Given the description of an element on the screen output the (x, y) to click on. 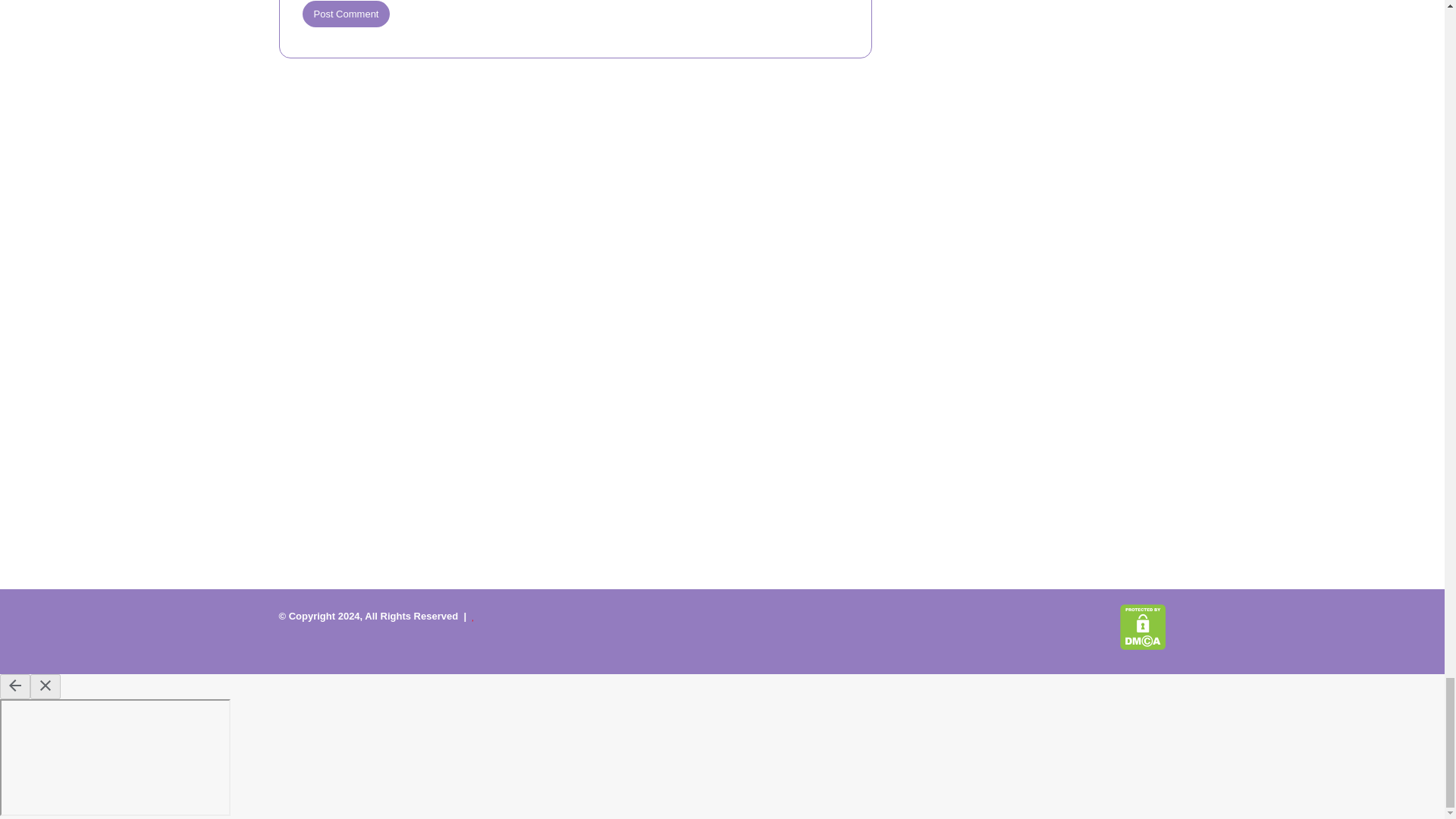
Post Comment (345, 13)
